Given the description of an element on the screen output the (x, y) to click on. 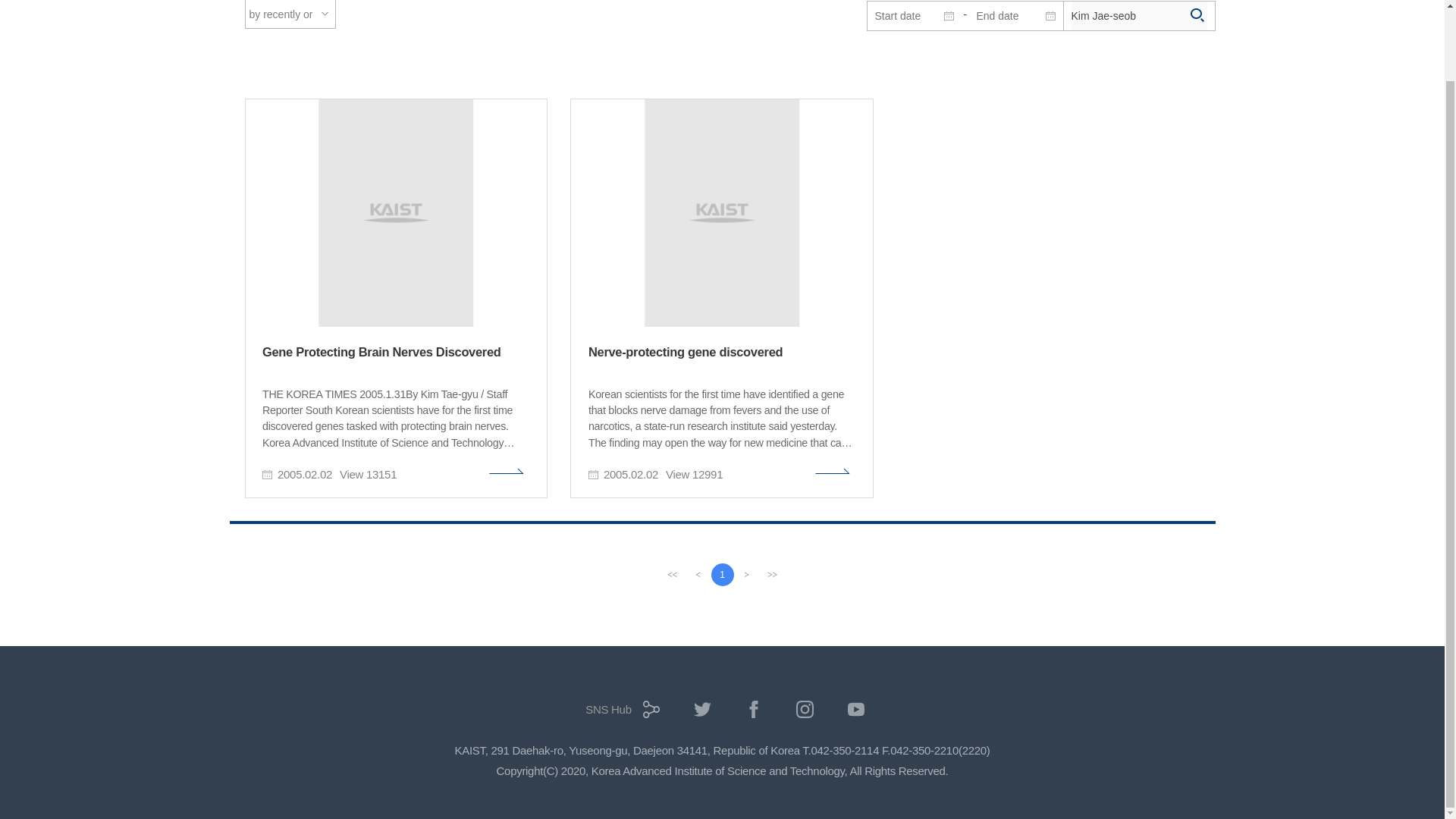
Kim Jae-seob (1138, 15)
SNS Hub (619, 715)
Input a Keyword (1138, 15)
1 (722, 574)
